Given the description of an element on the screen output the (x, y) to click on. 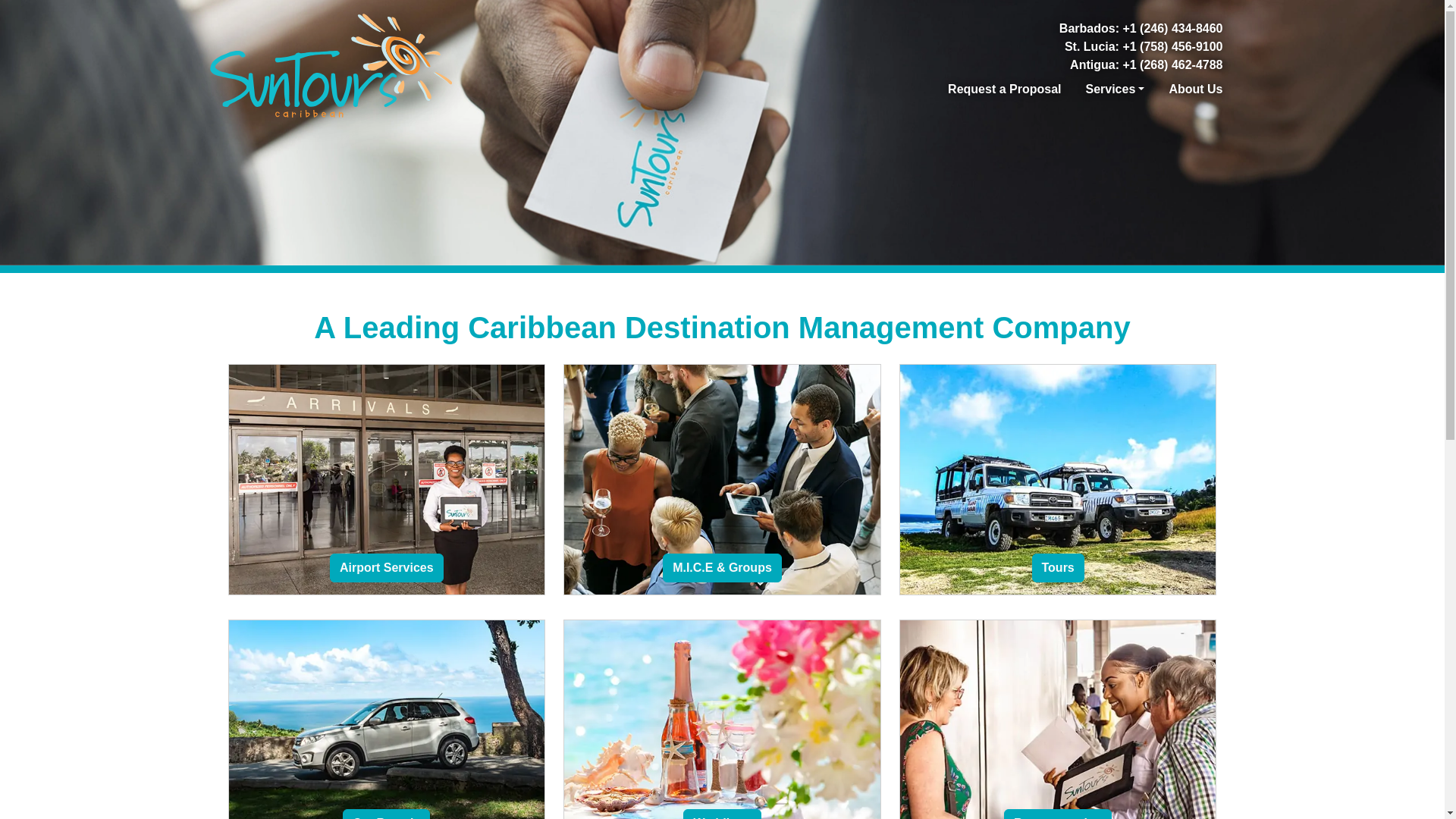
Tours (1056, 567)
Representation (1058, 814)
Airport Services (387, 567)
About Us (1194, 89)
Car Rentals (385, 814)
Services (1114, 89)
Request a Proposal (1004, 89)
Weddings (721, 814)
